Given the description of an element on the screen output the (x, y) to click on. 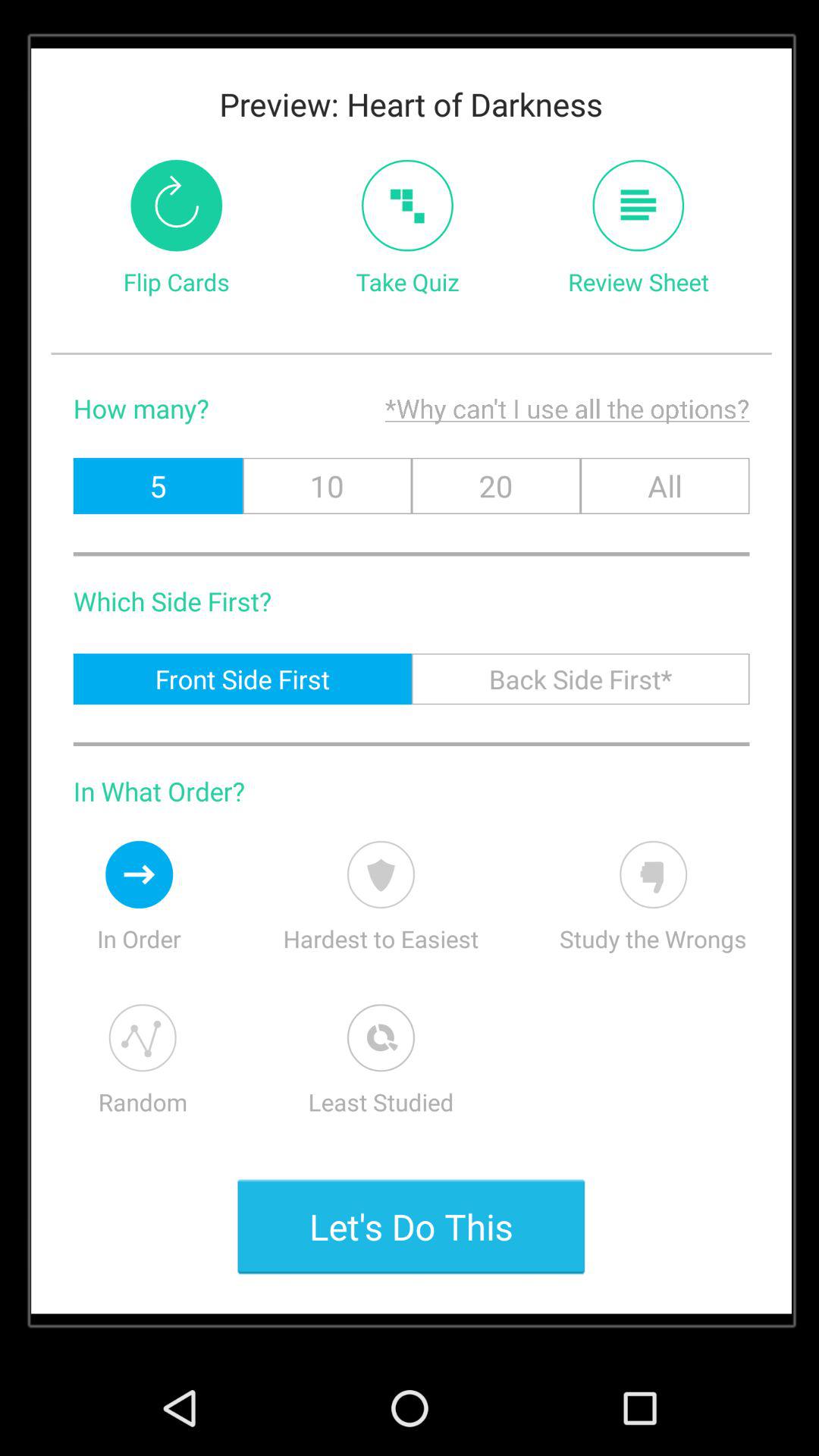
click the item next to how many? icon (485, 407)
